Given the description of an element on the screen output the (x, y) to click on. 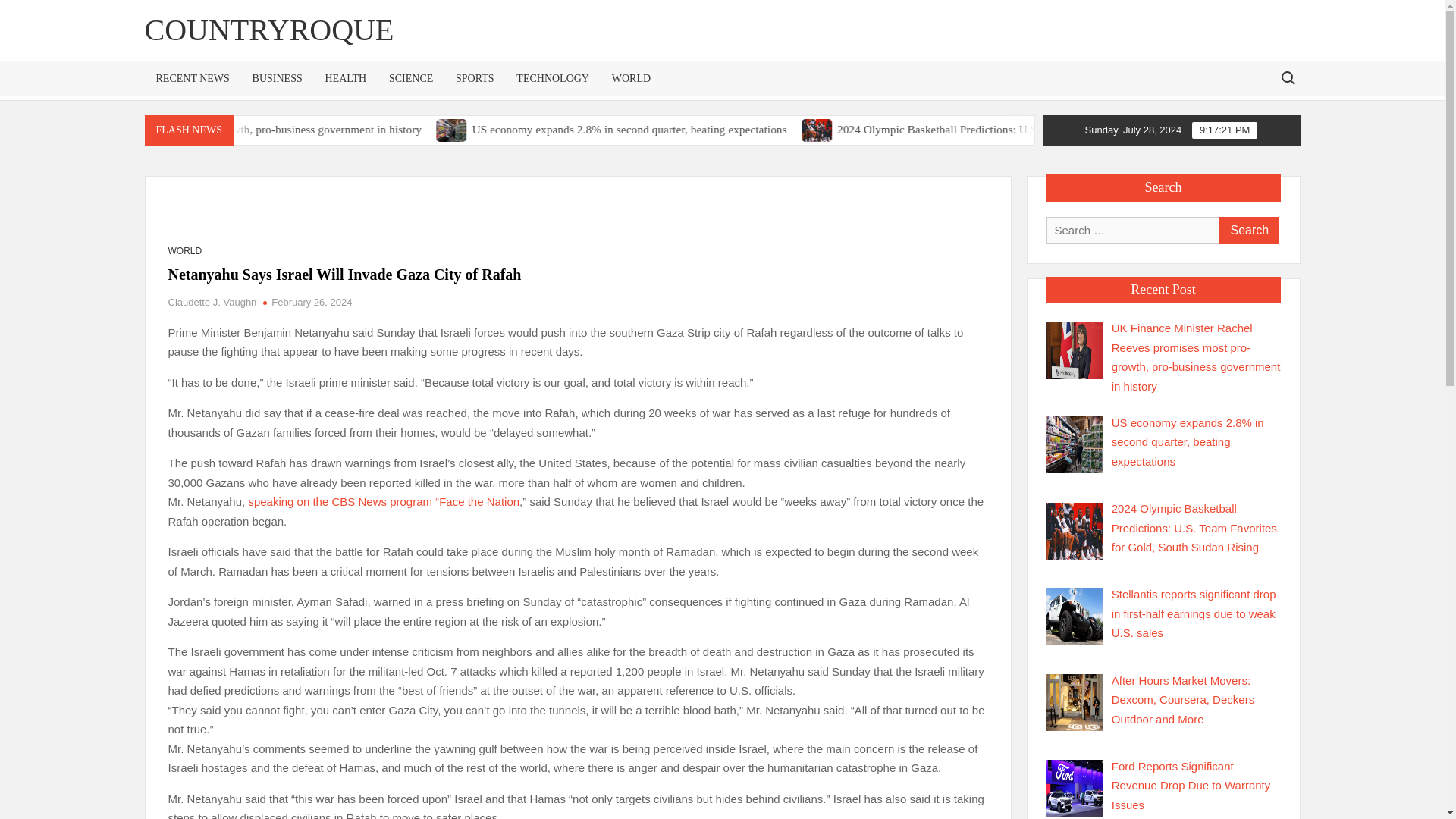
Search (1247, 230)
RECENT NEWS (192, 78)
Search for: (1287, 77)
SPORTS (474, 78)
WORLD (630, 78)
COUNTRYROQUE (268, 29)
TECHNOLOGY (552, 78)
SCIENCE (410, 78)
Search (1247, 230)
HEALTH (346, 78)
BUSINESS (277, 78)
